Given the description of an element on the screen output the (x, y) to click on. 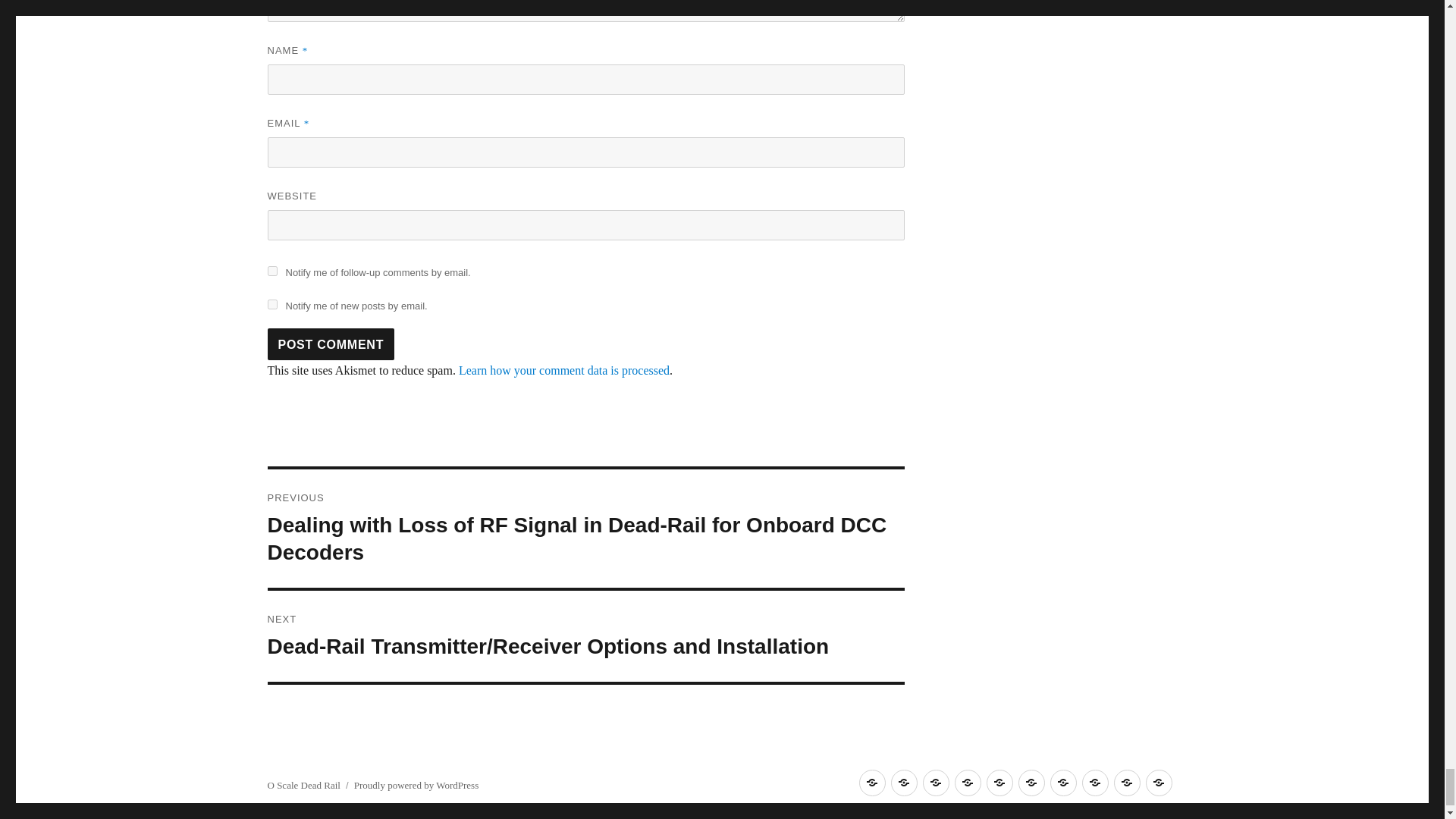
subscribe (271, 304)
subscribe (271, 271)
Post Comment (330, 344)
